Given the description of an element on the screen output the (x, y) to click on. 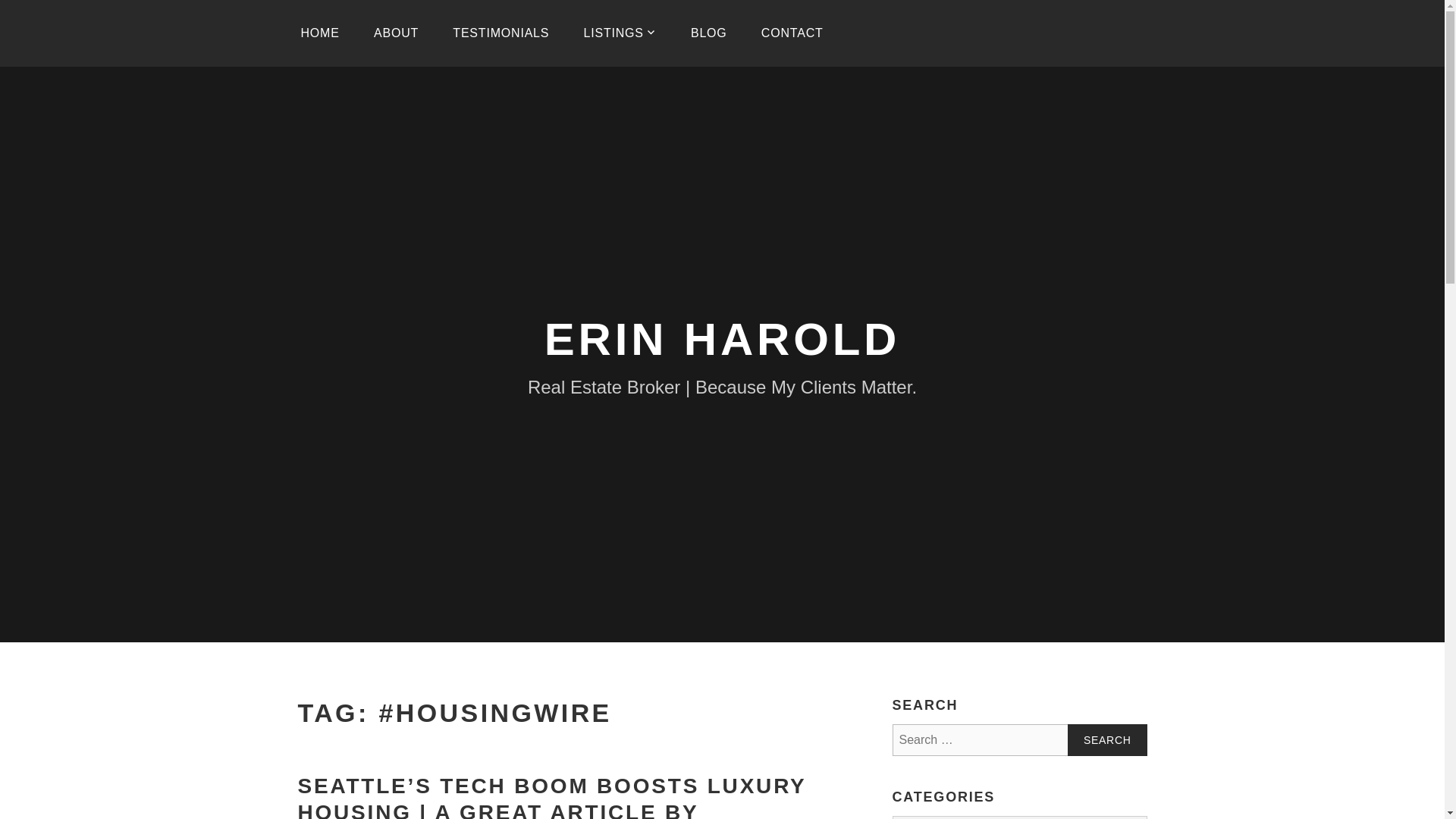
TESTIMONIALS (501, 33)
ABOUT (395, 33)
Search (1107, 739)
Search (1107, 739)
BLOG (708, 33)
ERIN HAROLD (721, 338)
Search (1107, 739)
CONTACT (791, 33)
LISTINGS (620, 33)
HOME (319, 33)
